Given the description of an element on the screen output the (x, y) to click on. 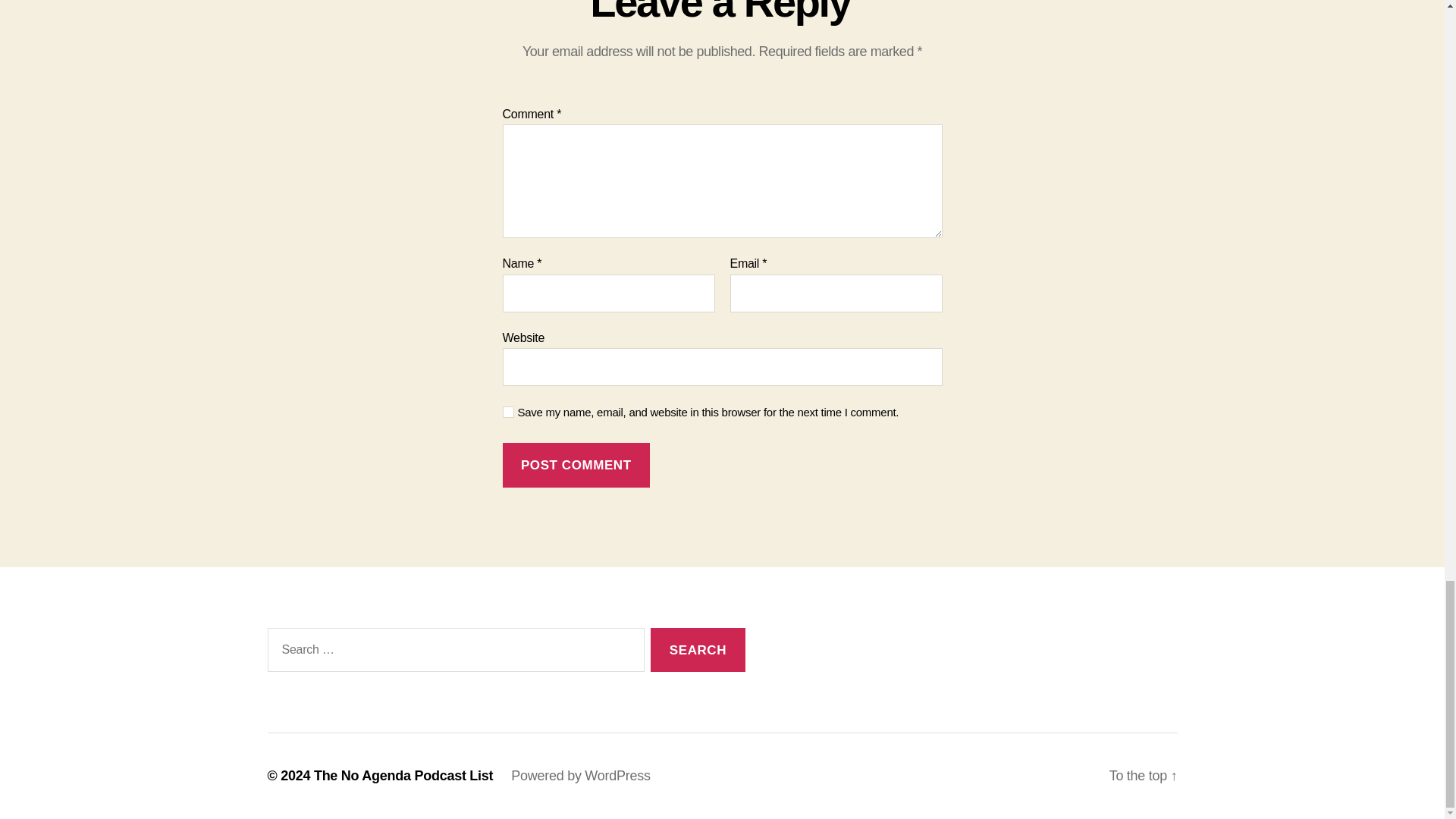
Search (697, 650)
The No Agenda Podcast List (403, 775)
Post Comment (575, 465)
yes (507, 411)
Post Comment (575, 465)
Powered by WordPress (580, 775)
Search (697, 650)
Search (697, 650)
